Given the description of an element on the screen output the (x, y) to click on. 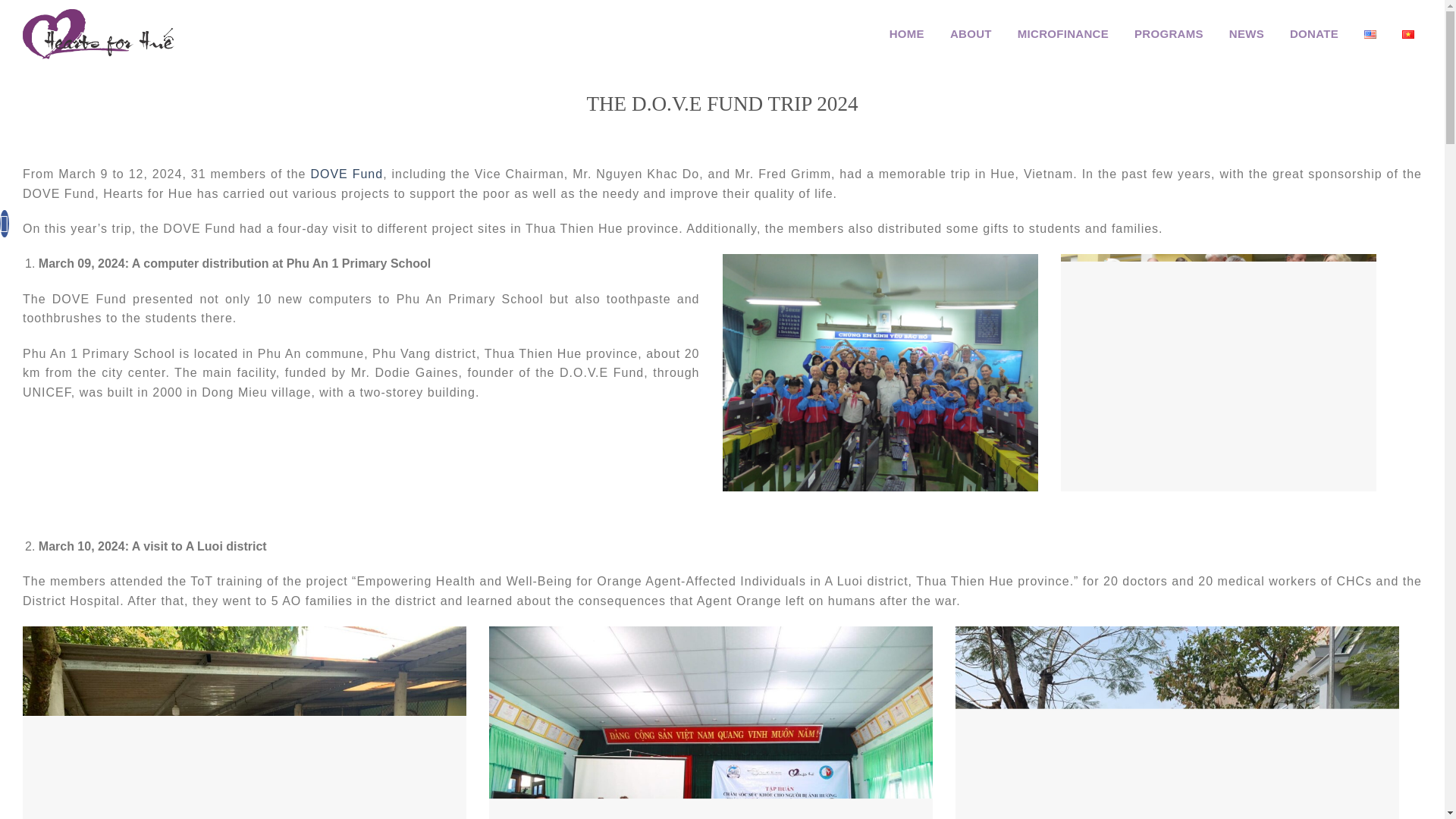
MICROFINANCE (1062, 33)
DOVE Fund (346, 173)
ABOUT (970, 33)
DONATE (1314, 33)
HOME (906, 33)
NEWS (1245, 33)
English (1369, 34)
PROGRAMS (1169, 33)
